Given the description of an element on the screen output the (x, y) to click on. 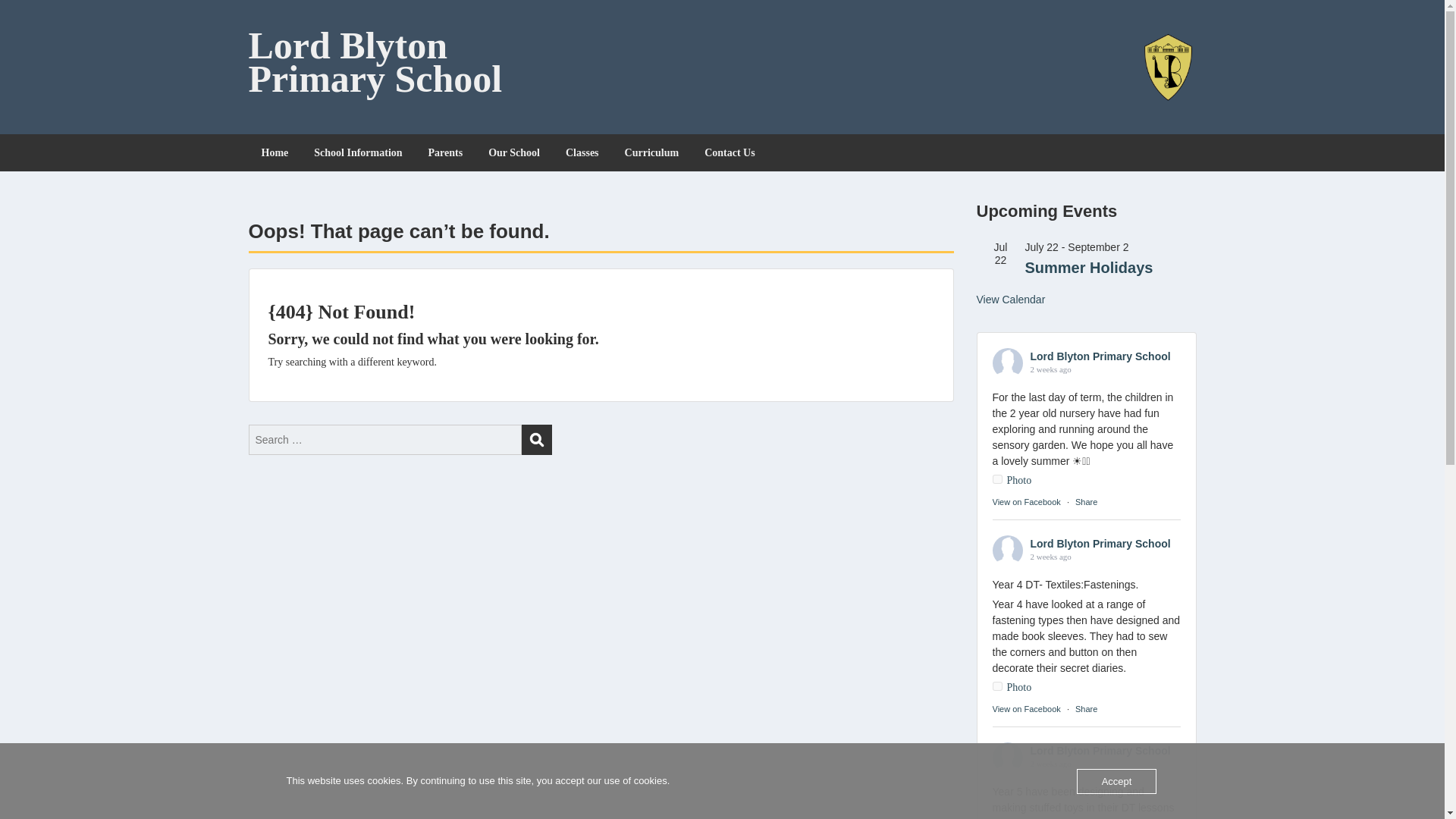
Search for: (384, 440)
View more events. (1010, 299)
View on Facebook (1025, 708)
Summer Holidays (1089, 267)
School Information (357, 152)
Lord Blyton Primary School (375, 61)
Share (1086, 501)
Parents (445, 152)
Search (536, 440)
View on Facebook (1025, 501)
